Given the description of an element on the screen output the (x, y) to click on. 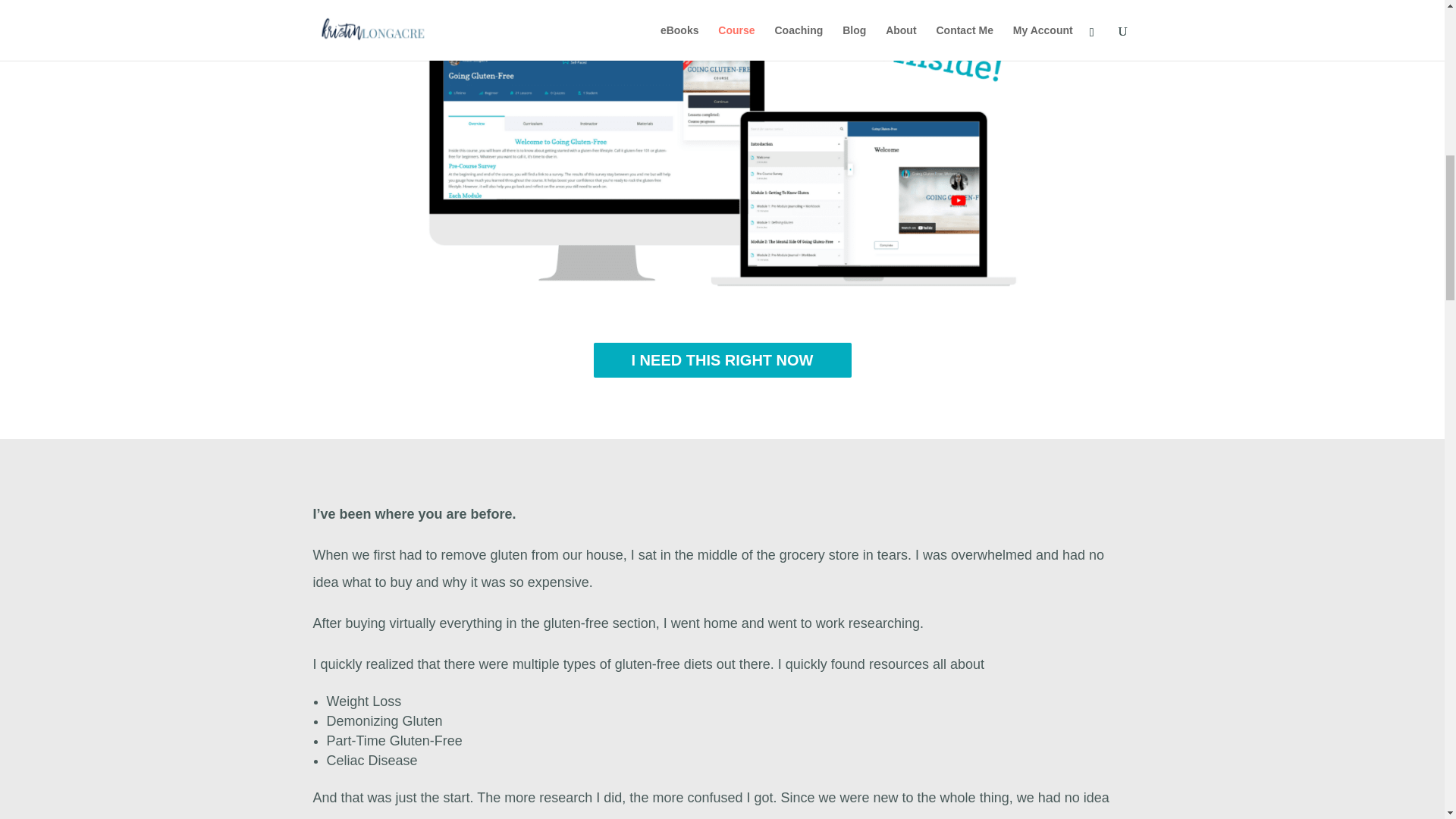
I NEED THIS RIGHT NOW (721, 360)
